Given the description of an element on the screen output the (x, y) to click on. 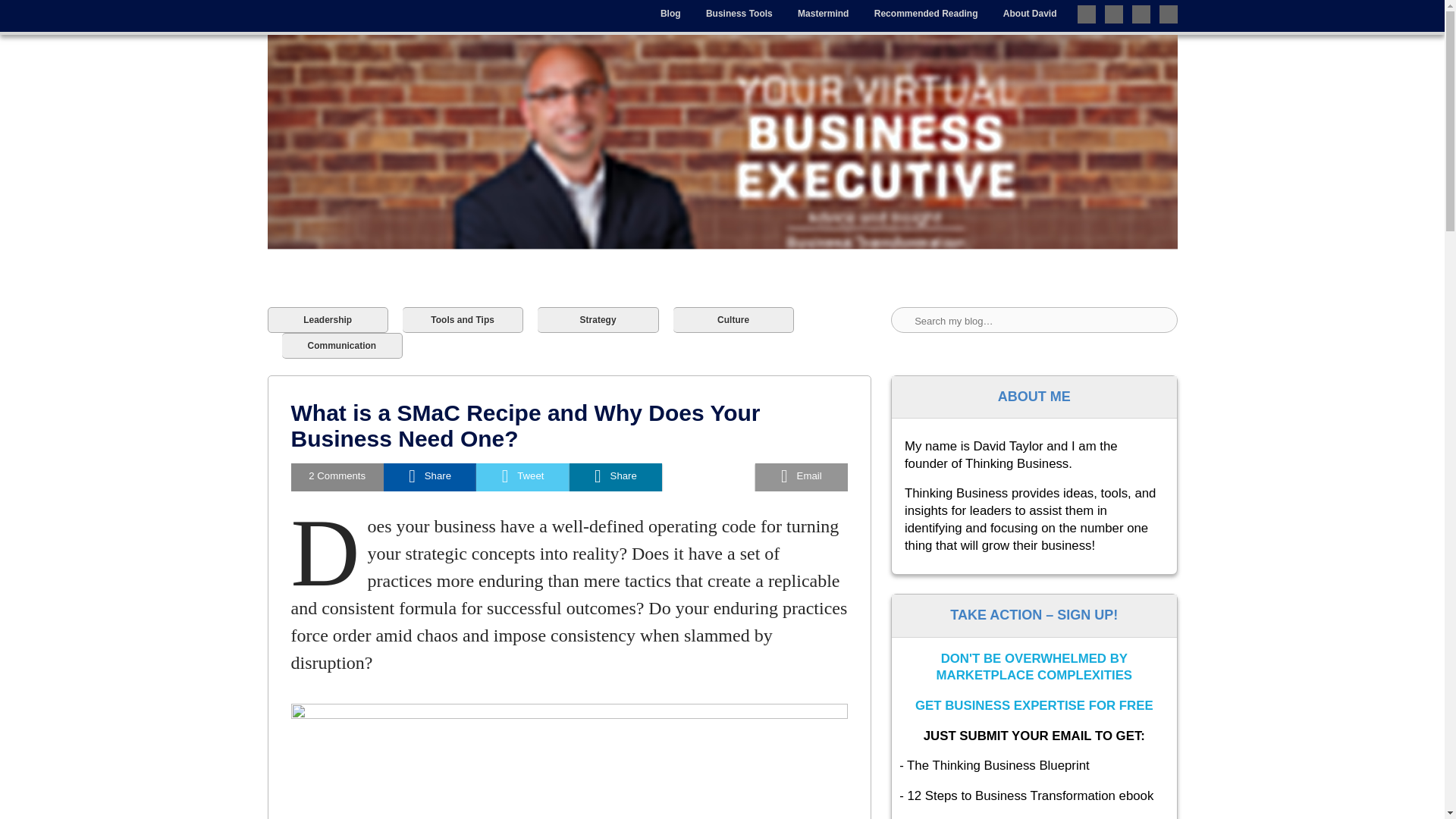
Mastermind (823, 14)
Leadership (326, 319)
Email (801, 477)
Connect with me on LinkedIn (1140, 13)
Business Tools (739, 14)
Blog (671, 14)
Share (615, 477)
Share (430, 477)
Recommended Reading (926, 14)
Like me on Facebook (1112, 13)
